Given the description of an element on the screen output the (x, y) to click on. 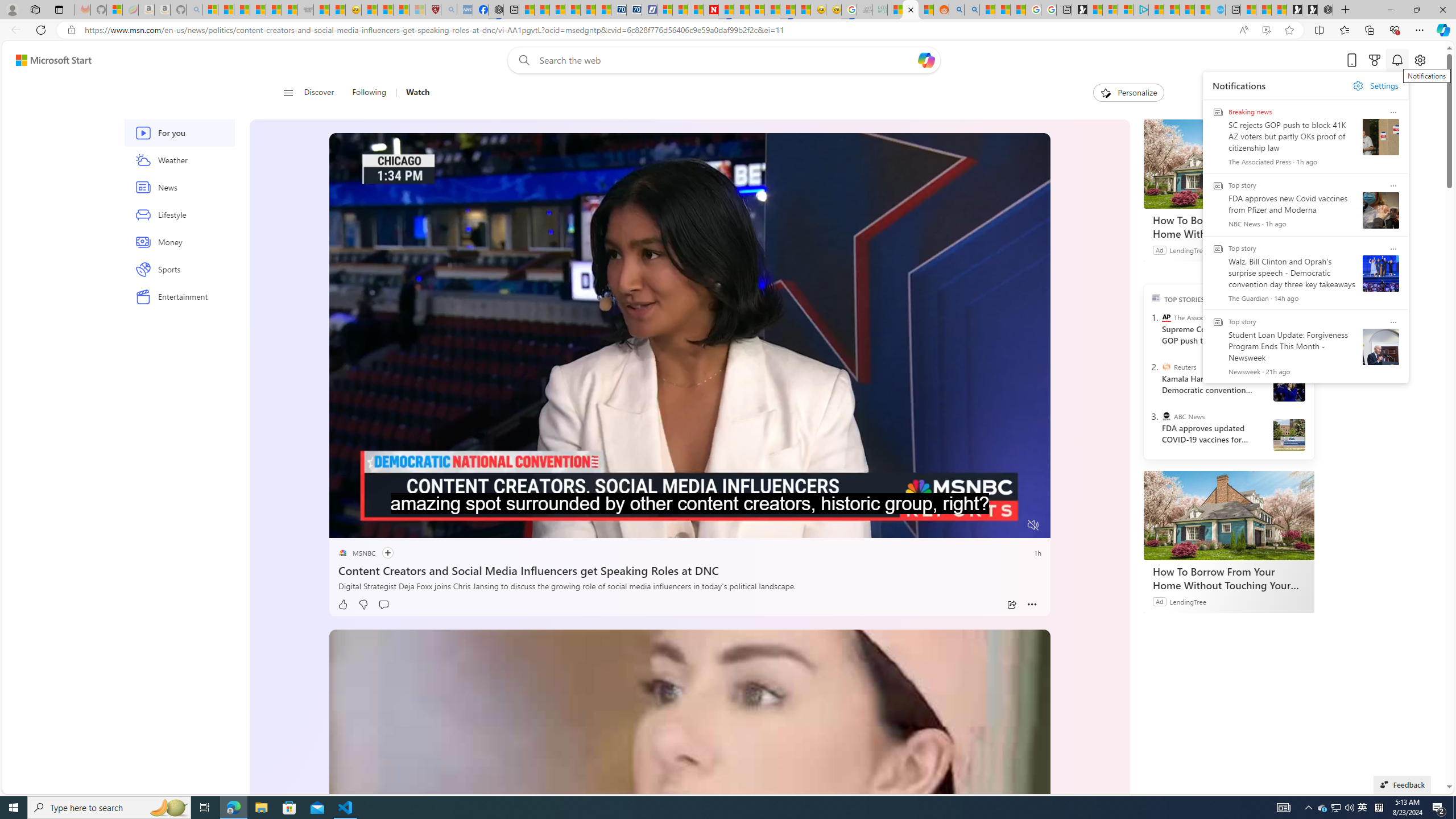
Watch (417, 92)
Seek Forward (391, 525)
Recipes - MSN (368, 9)
